Given the description of an element on the screen output the (x, y) to click on. 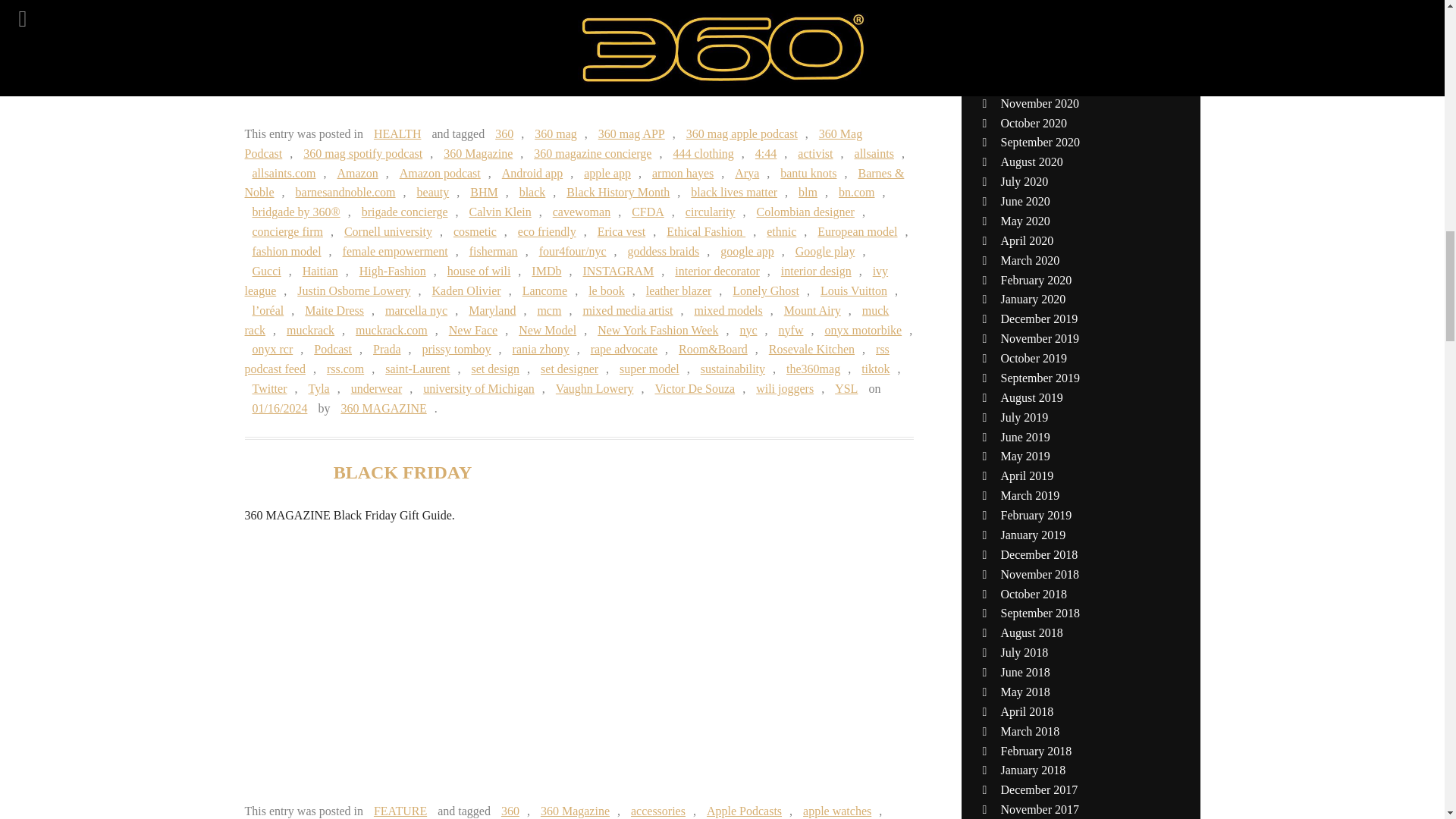
View all posts by 360 MAGAZINE (383, 408)
3:16 pm (279, 408)
